Given the description of an element on the screen output the (x, y) to click on. 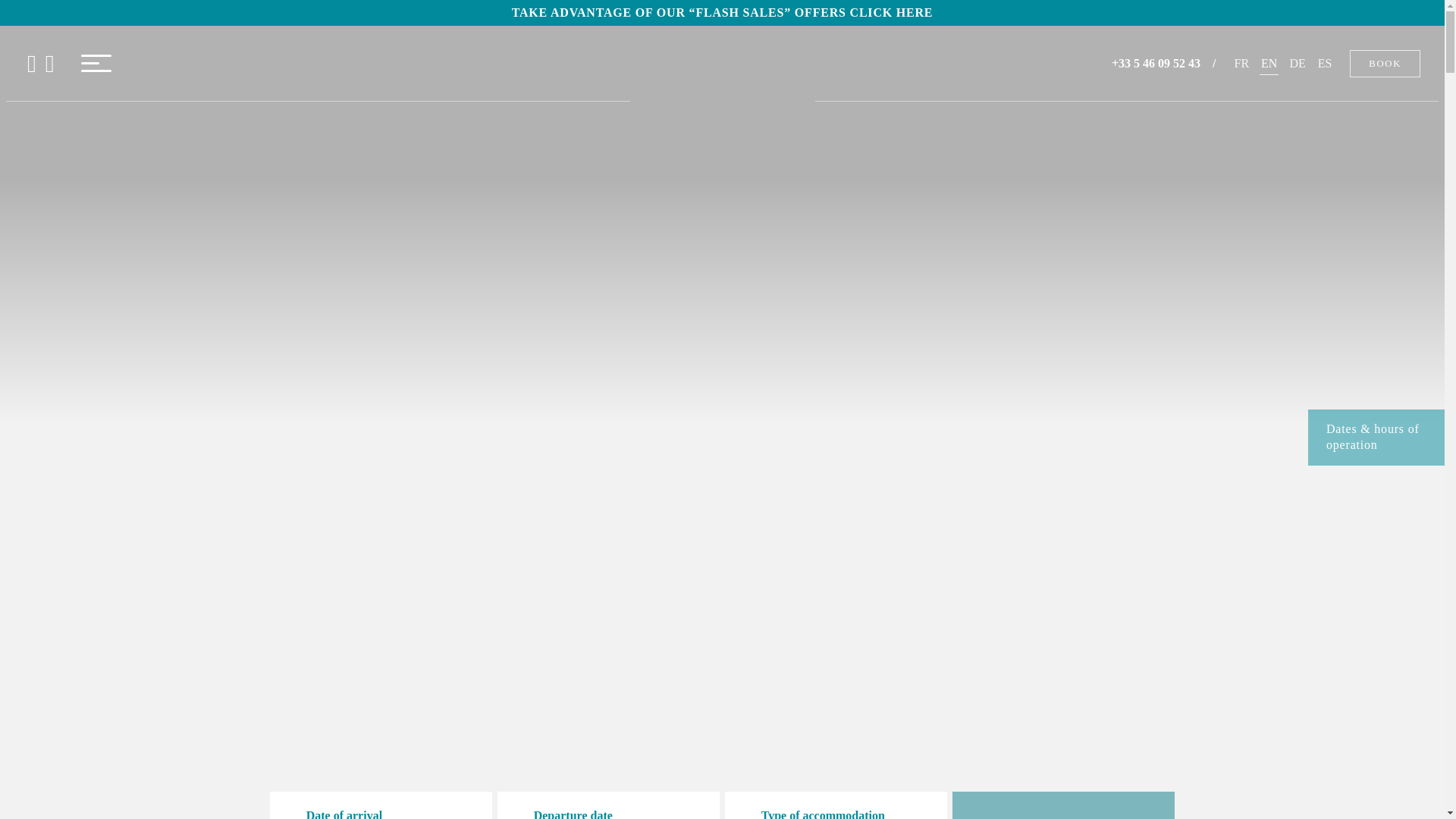
BOOK (1063, 805)
DE (1296, 62)
FR (1241, 62)
ES (1324, 62)
Retrouvez-nous sur facebook (31, 63)
Retrouvez-nous sur instagram (50, 63)
Deutsch (1296, 62)
BOOK (1385, 62)
